Given the description of an element on the screen output the (x, y) to click on. 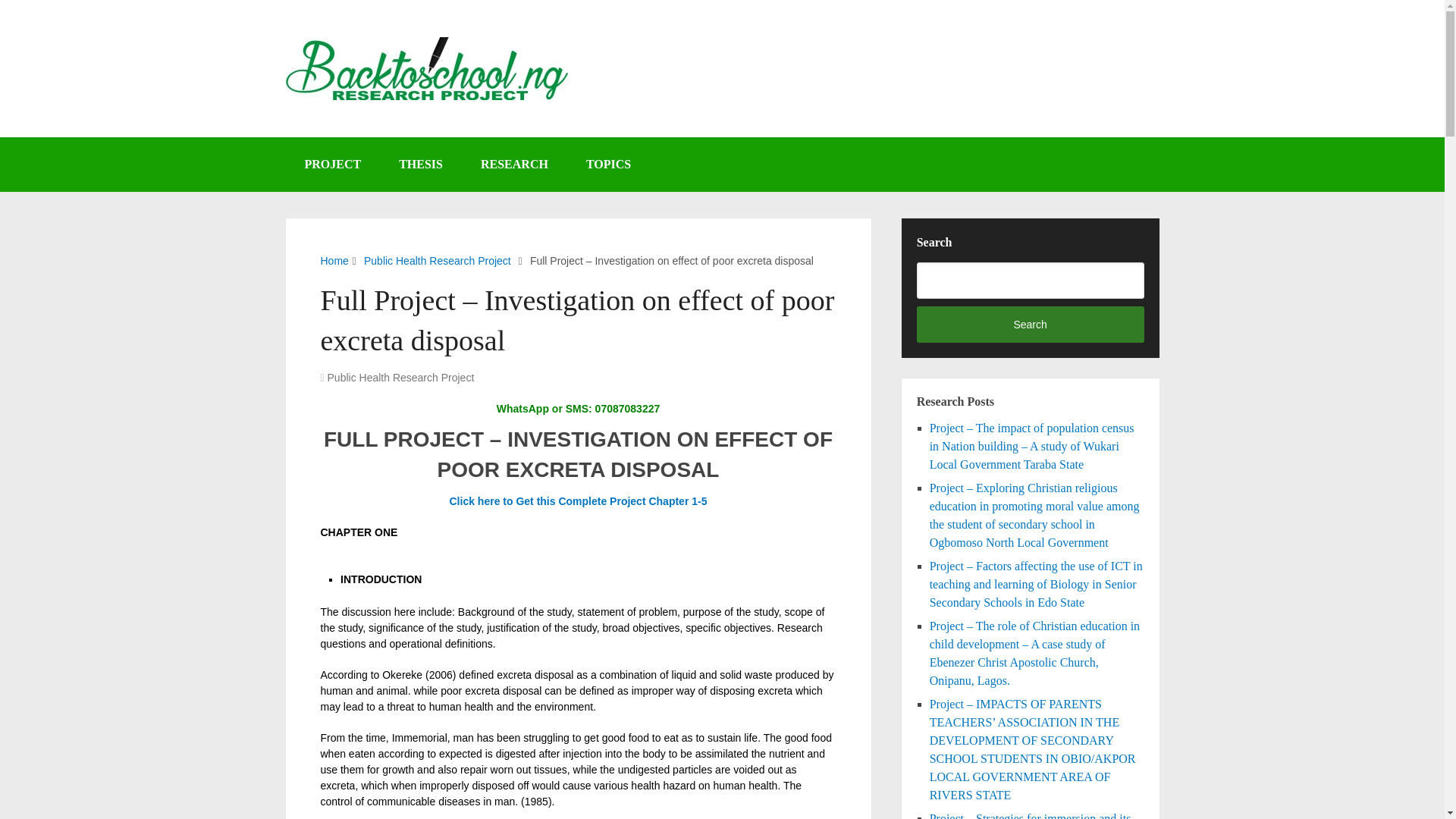
THESIS (420, 164)
View all posts in Public Health Research Project (400, 377)
TOPICS (608, 164)
WhatsApp or SMS: 07087083227 (578, 408)
Click here to Get this Complete Project Chapter 1-5 (577, 500)
Public Health Research Project (400, 377)
Public Health Research Project (437, 260)
Home (333, 260)
RESEARCH (514, 164)
PROJECT (332, 164)
